Given the description of an element on the screen output the (x, y) to click on. 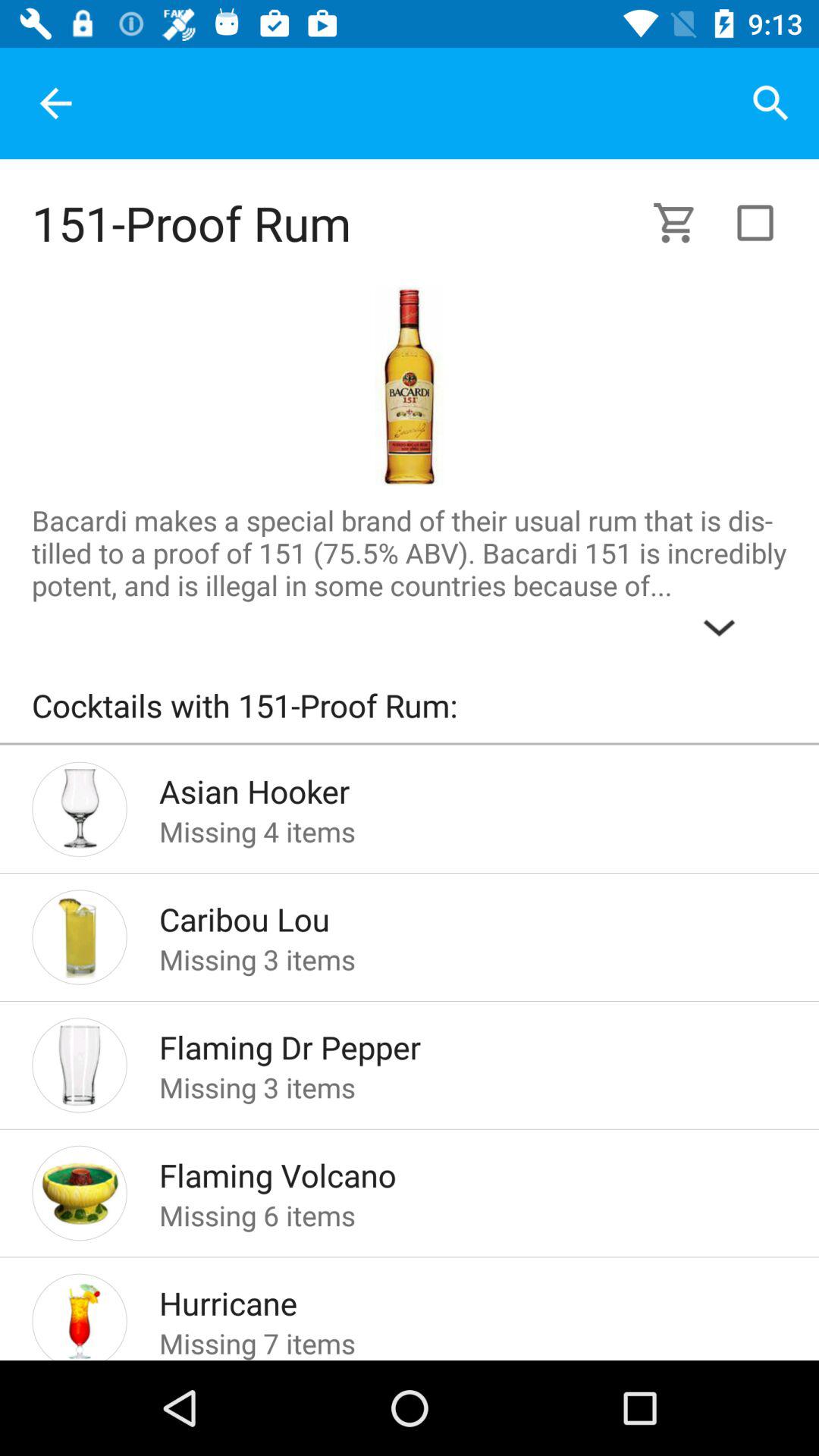
go to cart (683, 222)
